Given the description of an element on the screen output the (x, y) to click on. 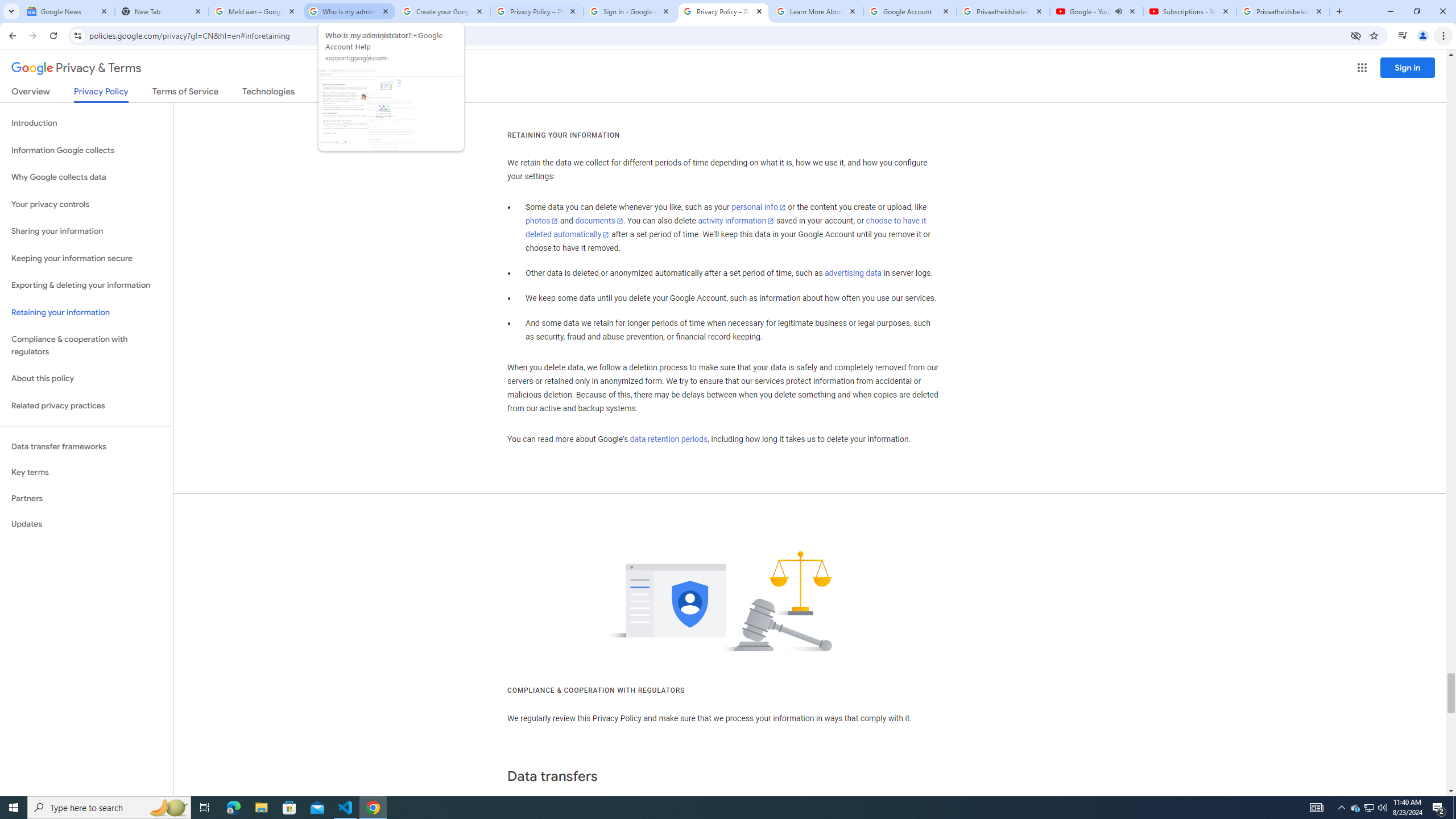
Google News (67, 11)
Google Account (909, 11)
